Given the description of an element on the screen output the (x, y) to click on. 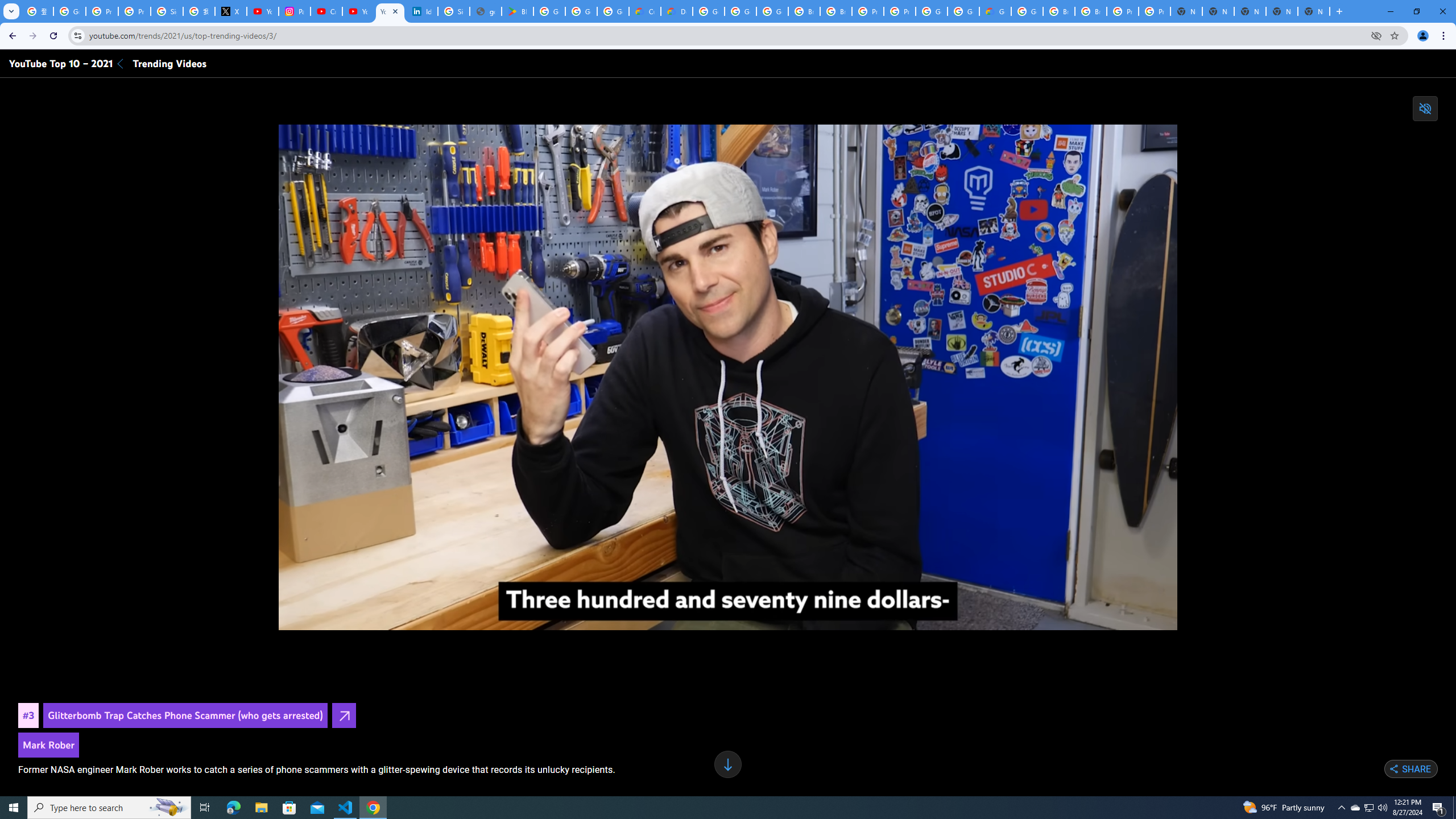
YouTube Culture & Trends - YouTube Top 10, 2021 (389, 11)
Toggle mute (1425, 108)
X (230, 11)
Google Cloud Estimate Summary (995, 11)
Watch on www.youtube.com (1136, 613)
Google Cloud Platform (1027, 11)
Share on Twitter (1364, 768)
Google Cloud Platform (931, 11)
Open in YouTube (343, 715)
